Given the description of an element on the screen output the (x, y) to click on. 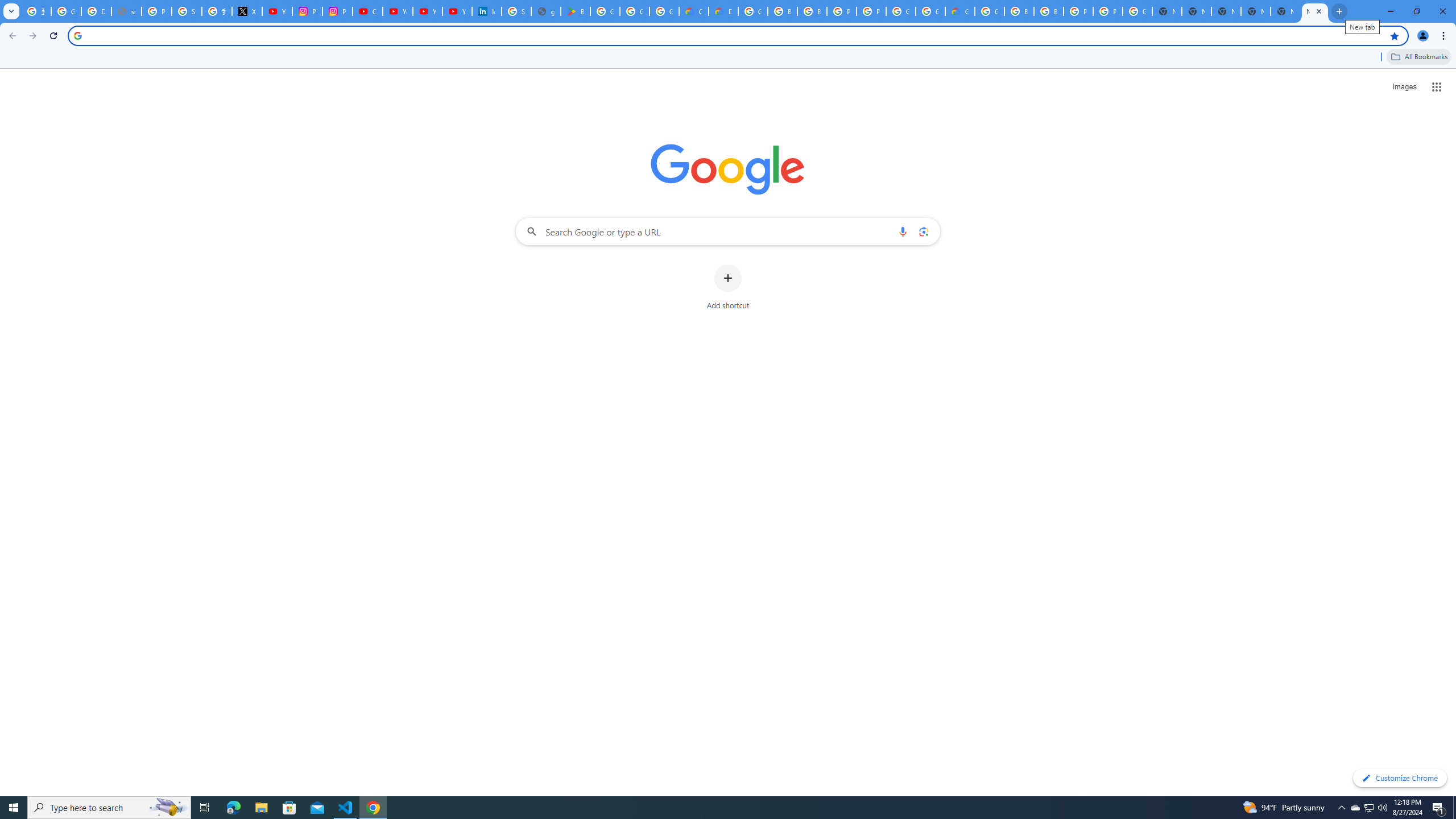
Google Cloud Estimate Summary (959, 11)
Google Workspace - Specific Terms (664, 11)
Search icon (77, 35)
Search Google or type a URL (727, 230)
Sign in - Google Accounts (185, 11)
Add shortcut (727, 287)
Browse Chrome as a guest - Computer - Google Chrome Help (782, 11)
Google apps (1436, 86)
